Given the description of an element on the screen output the (x, y) to click on. 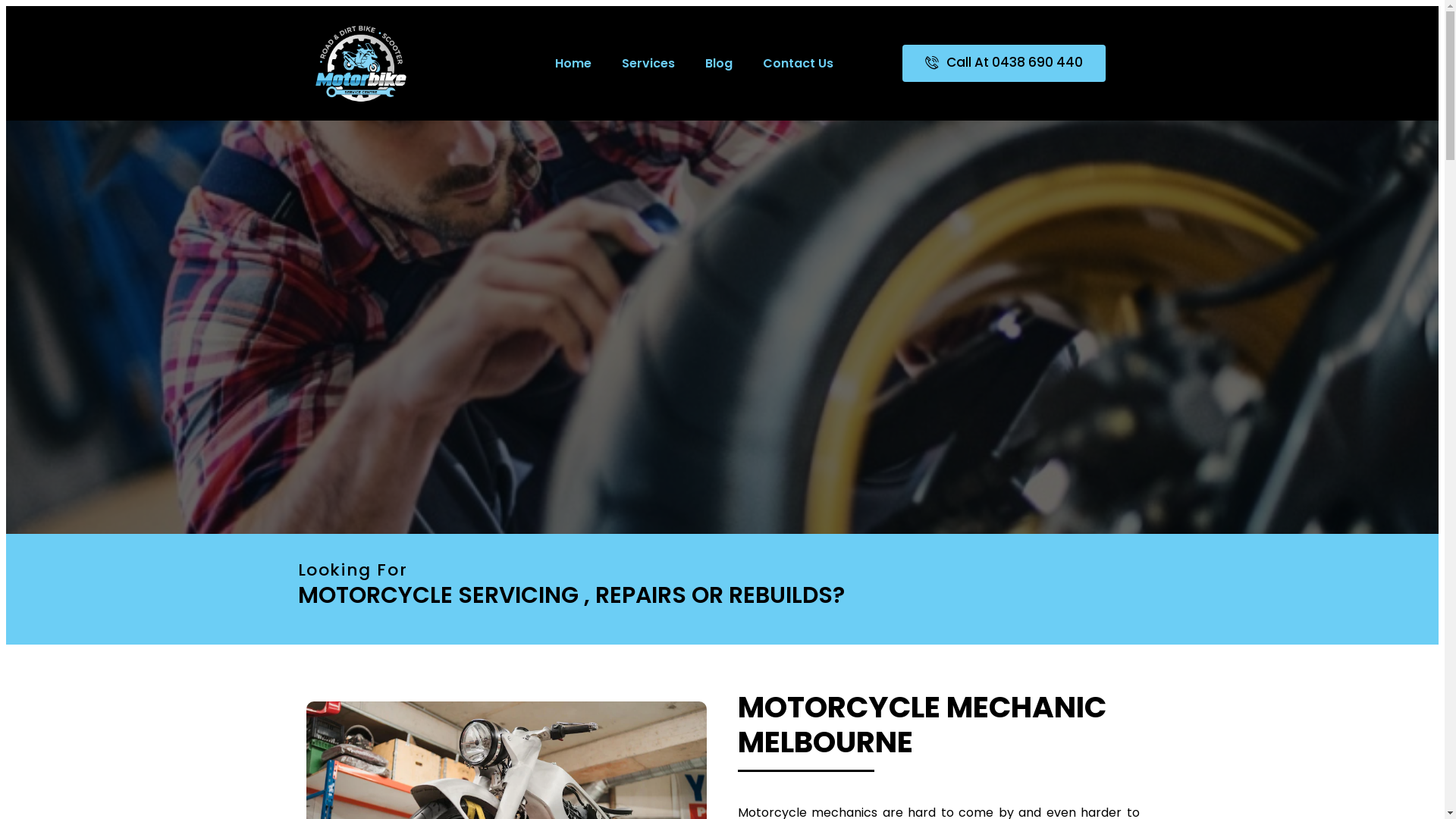
Home Element type: text (572, 62)
Services Element type: text (648, 62)
Blog Element type: text (718, 62)
Call At 0438 690 440 Element type: text (1003, 62)
Contact Us Element type: text (797, 62)
